Given the description of an element on the screen output the (x, y) to click on. 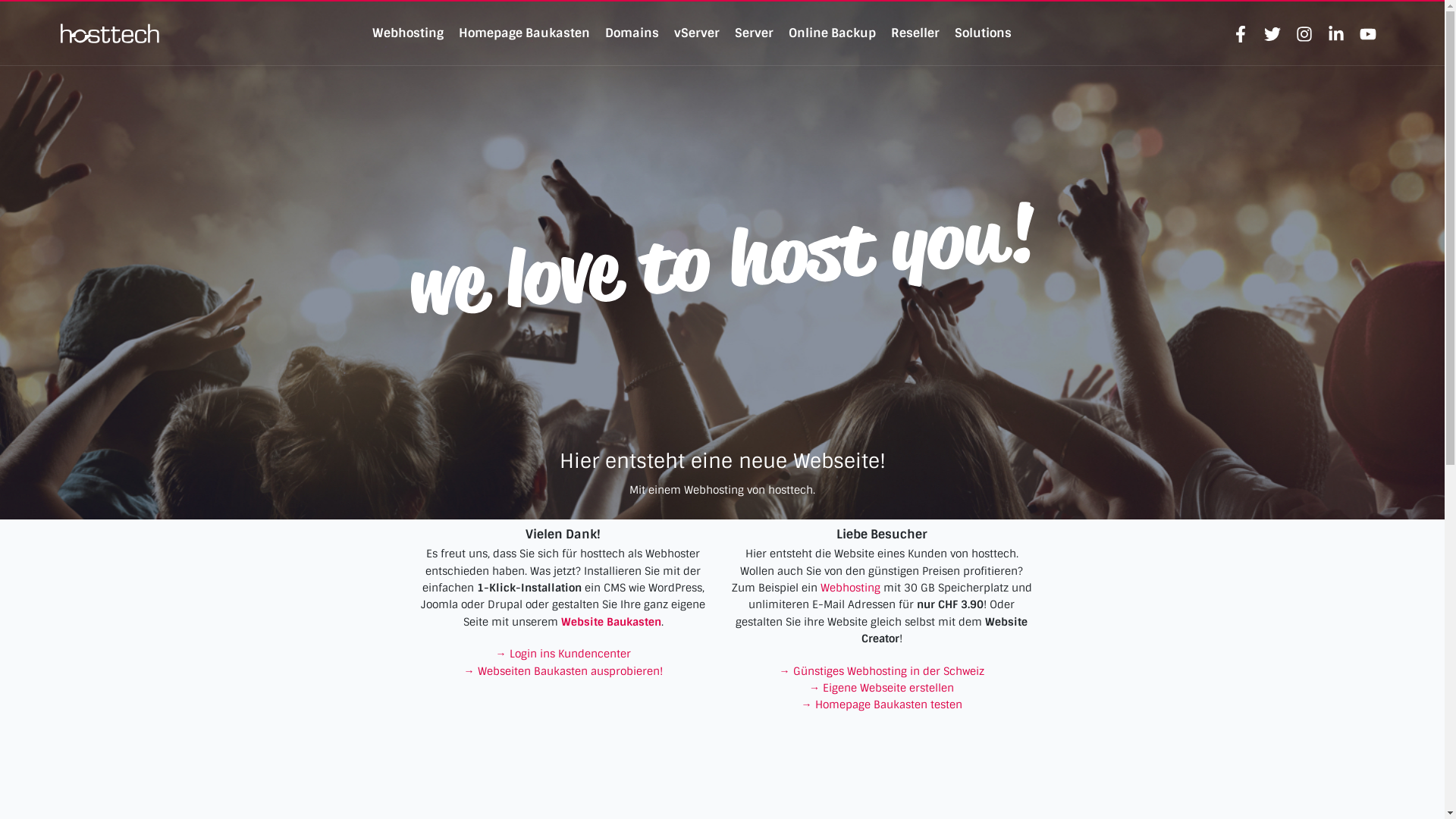
Website Baukasten Element type: text (611, 621)
Webhosting Element type: text (407, 32)
Solutions Element type: text (982, 32)
Domains Element type: text (631, 32)
Webhosting Element type: text (850, 587)
Online Backup Element type: text (831, 32)
Reseller Element type: text (915, 32)
Homepage Baukasten Element type: text (523, 32)
Server Element type: text (753, 32)
vServer Element type: text (696, 32)
